Given the description of an element on the screen output the (x, y) to click on. 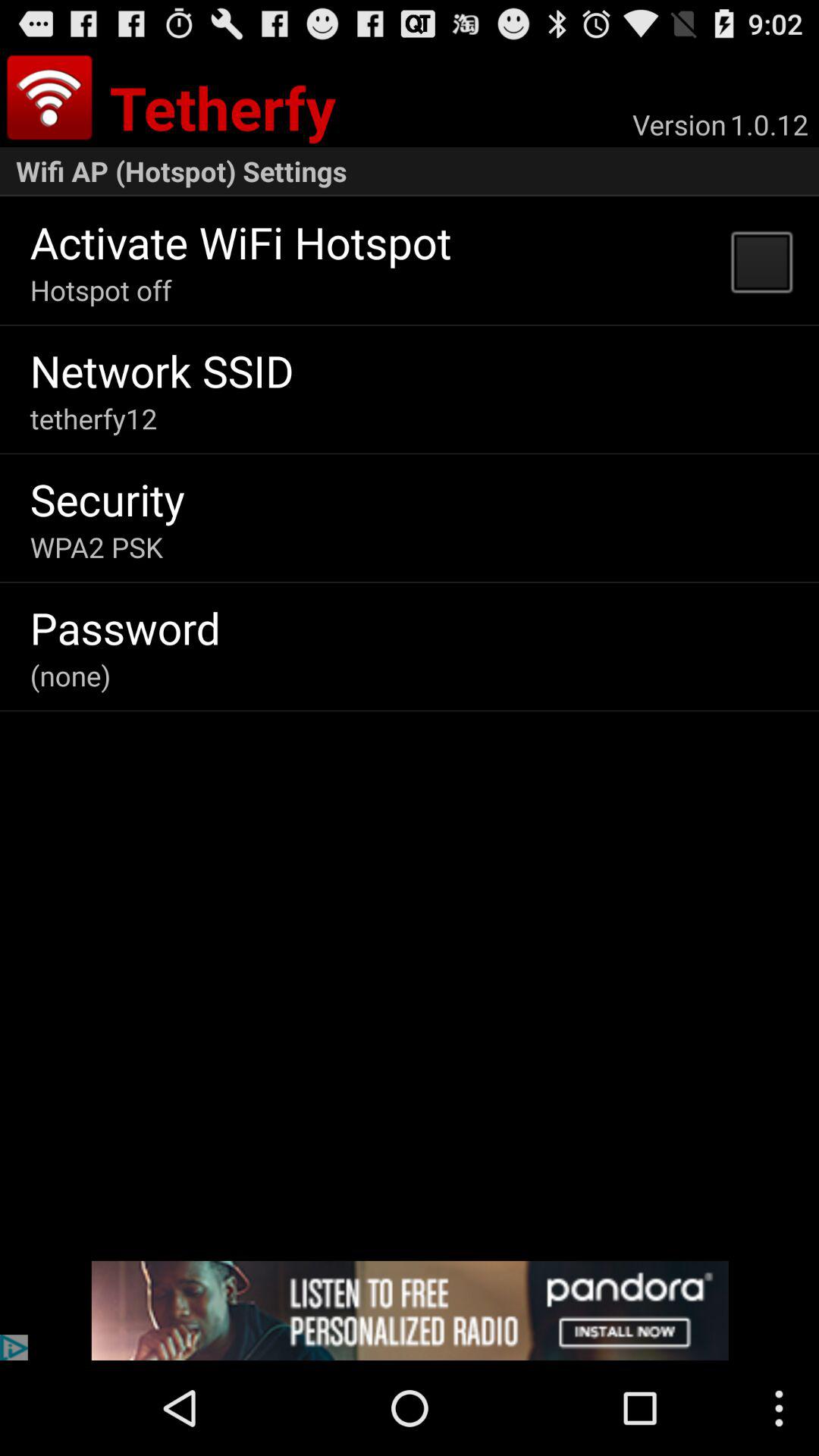
scroll to security icon (107, 498)
